Given the description of an element on the screen output the (x, y) to click on. 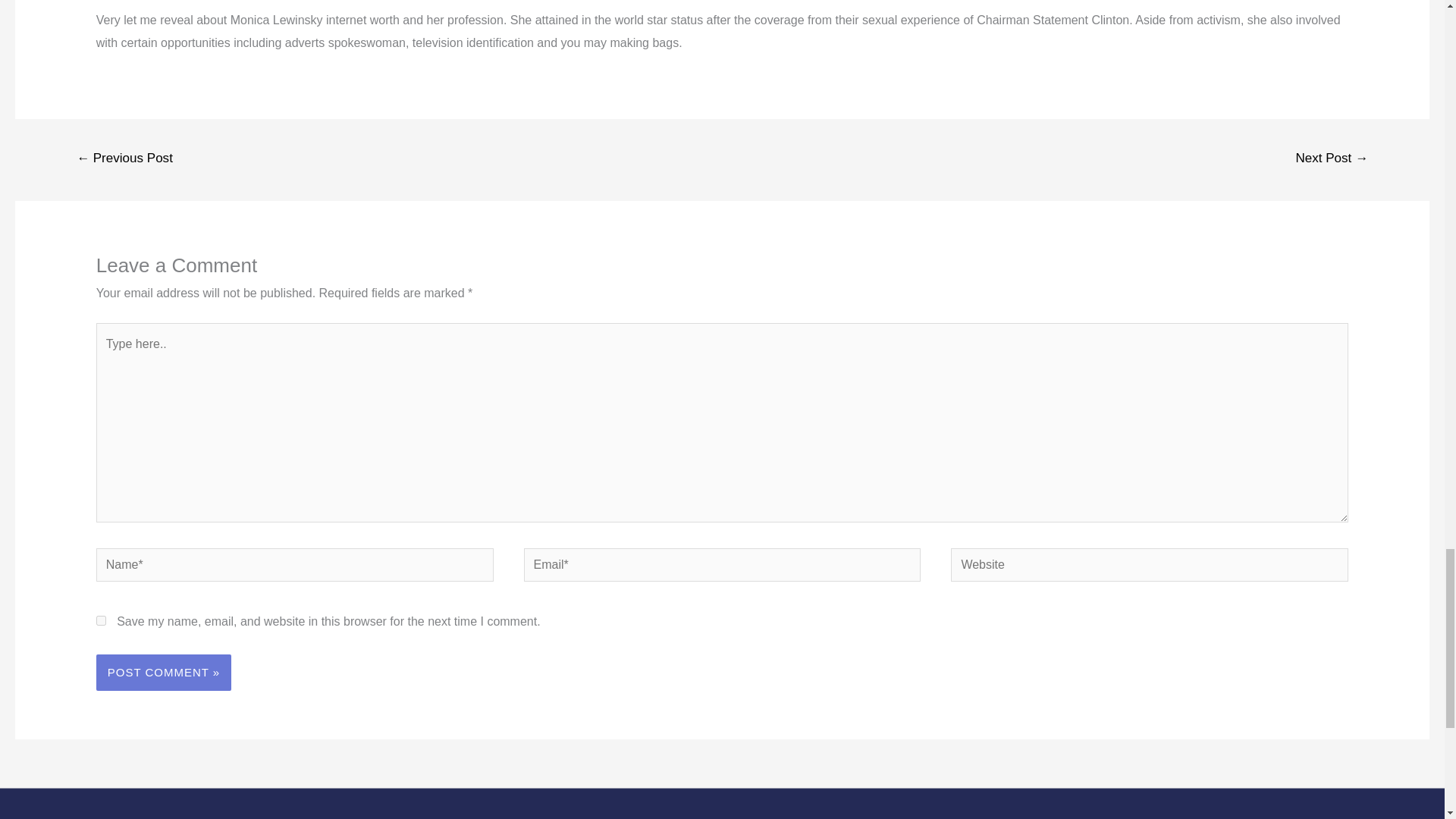
yes (101, 620)
